Given the description of an element on the screen output the (x, y) to click on. 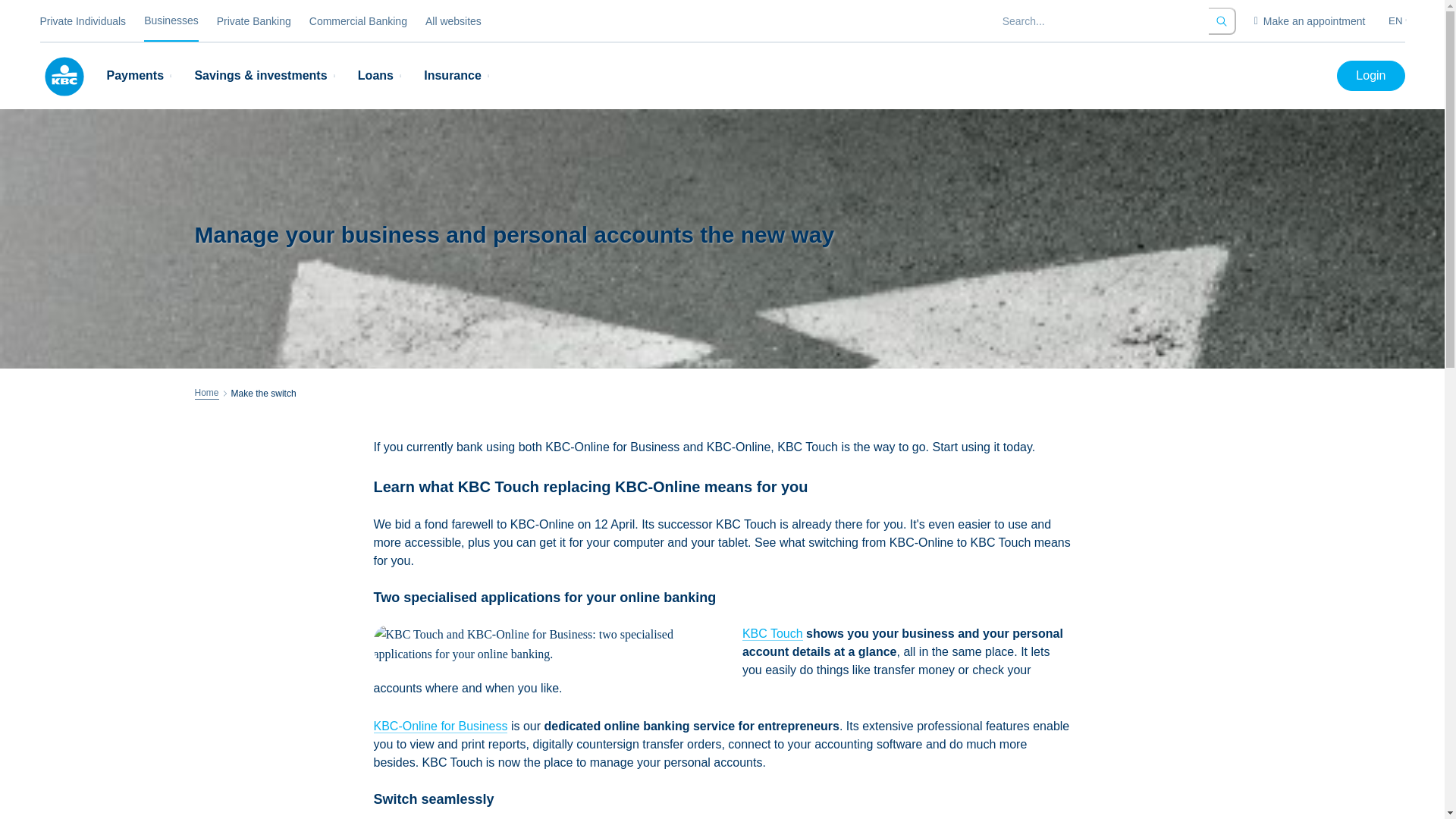
Make an appointment (1309, 20)
Private Individuals (82, 20)
Make an appointment (1309, 20)
EN (1399, 20)
Private Banking (253, 20)
Payments (141, 75)
KBC Businesses (63, 76)
Commercial Banking (357, 20)
All websites (453, 20)
